Given the description of an element on the screen output the (x, y) to click on. 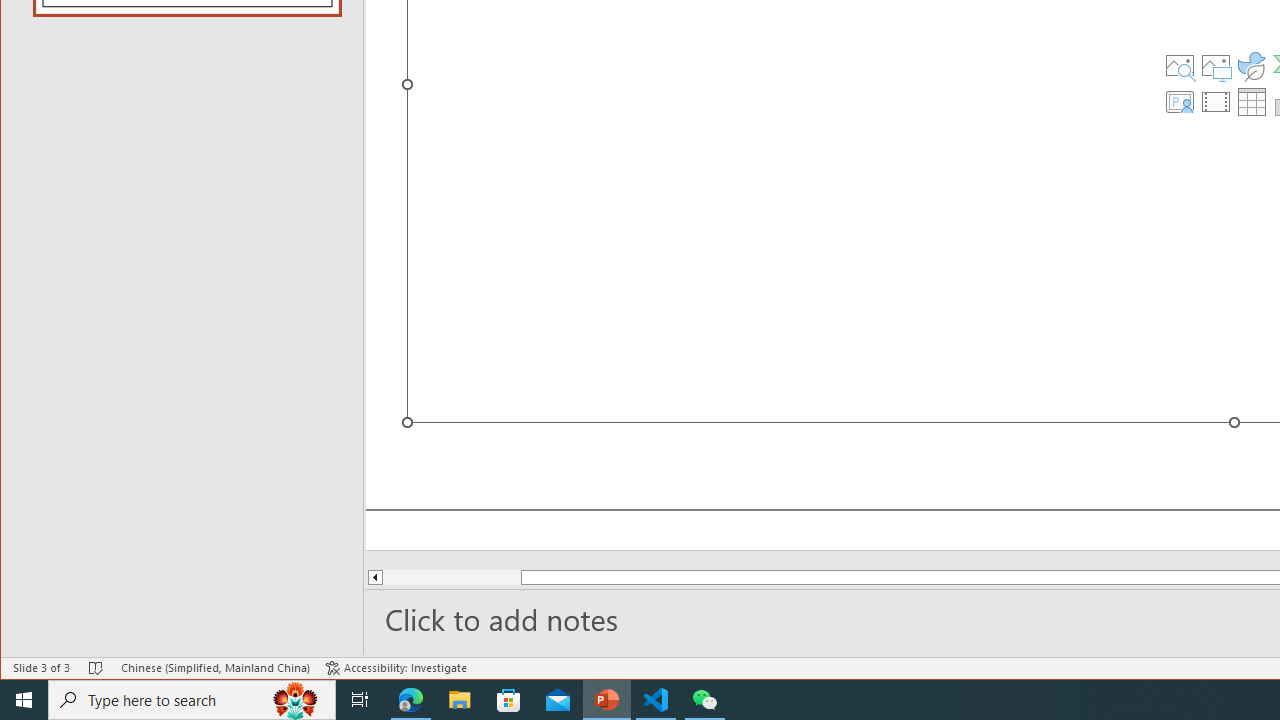
Microsoft Edge - 1 running window (411, 699)
Microsoft Store (509, 699)
Spell Check No Errors (96, 668)
Search highlights icon opens search home window (295, 699)
Page up (438, 577)
Start (24, 699)
File Explorer (460, 699)
Line up (374, 577)
Insert Video (1215, 101)
WeChat - 1 running window (704, 699)
Pictures (1215, 65)
Visual Studio Code - 1 running window (656, 699)
Accessibility Checker Accessibility: Investigate (395, 668)
Insert Table (1252, 101)
PowerPoint - 1 running window (607, 699)
